Given the description of an element on the screen output the (x, y) to click on. 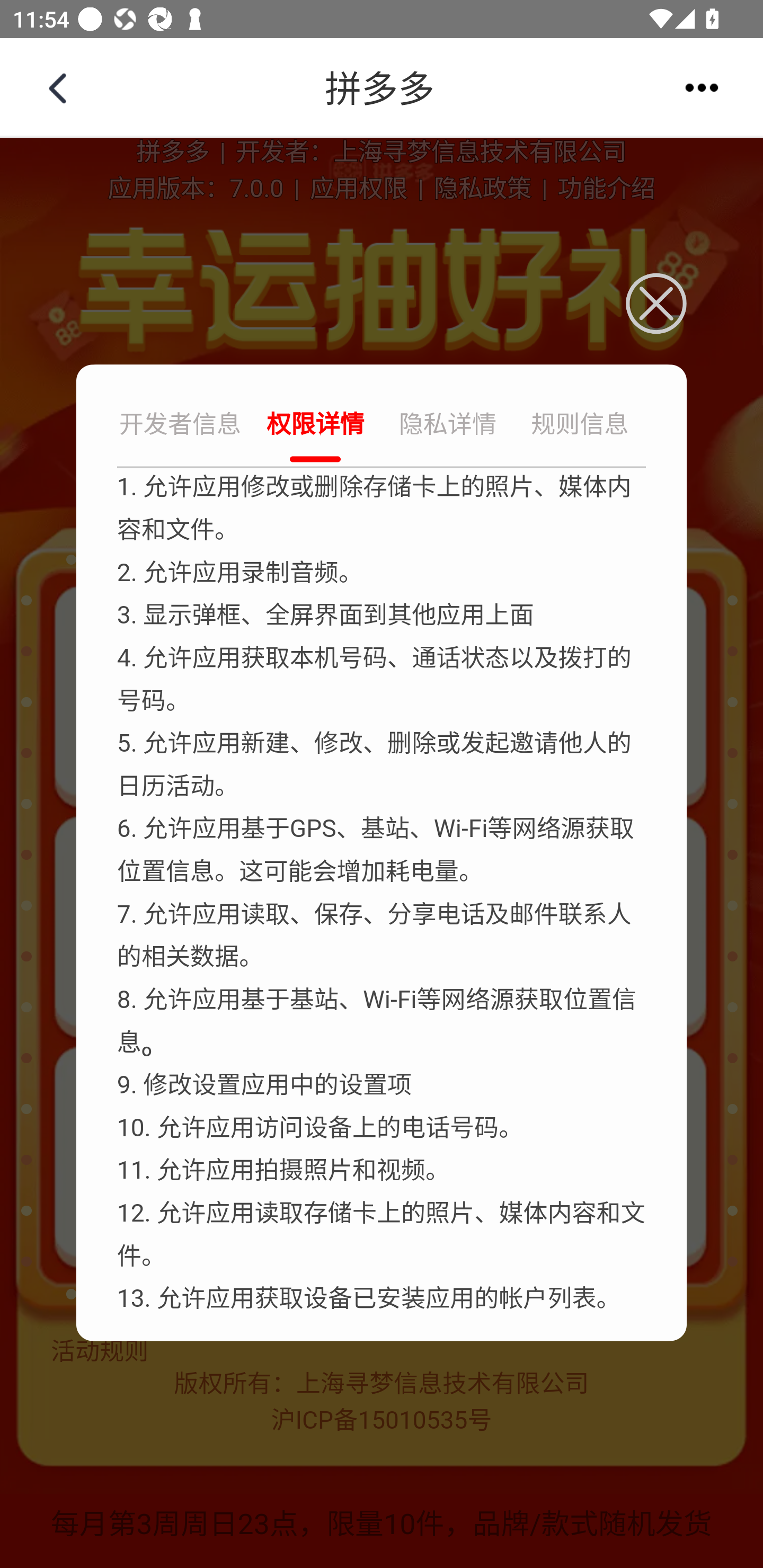
广告 重播 (381, 87)
更多 (701, 86)
开发者信息  (182, 425)
权限详情 (315, 425)
隐私详情 (448, 425)
规则信息 (580, 425)
